Given the description of an element on the screen output the (x, y) to click on. 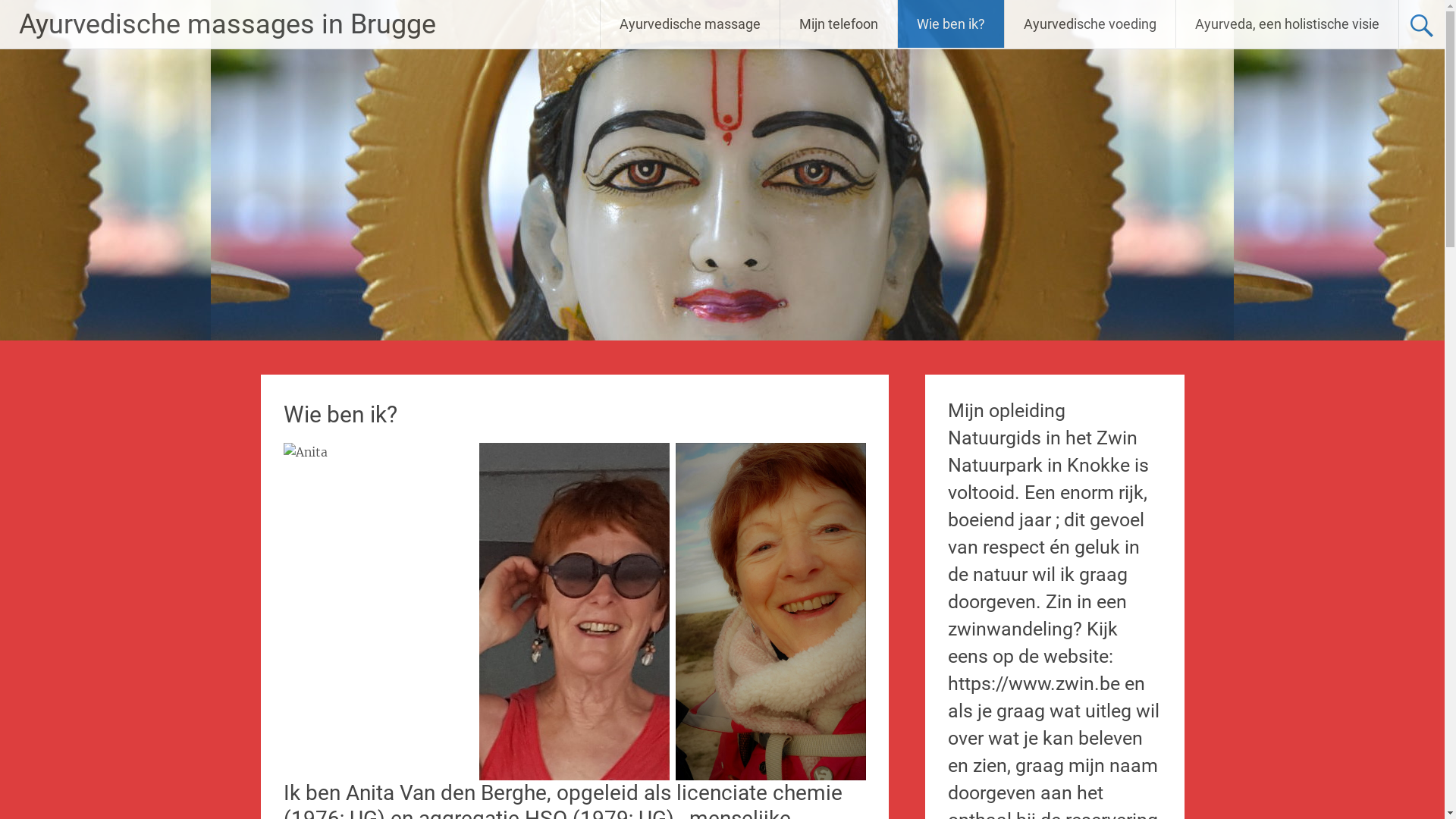
Wie ben ik? Element type: text (950, 23)
Ayurveda, een holistische visie Element type: text (1287, 23)
Ayurvedische voeding Element type: text (1089, 23)
Ayurvedische massage Element type: text (689, 23)
Ayurvedische massages in Brugge Element type: text (227, 24)
Mijn telefoon Element type: text (838, 23)
